Given the description of an element on the screen output the (x, y) to click on. 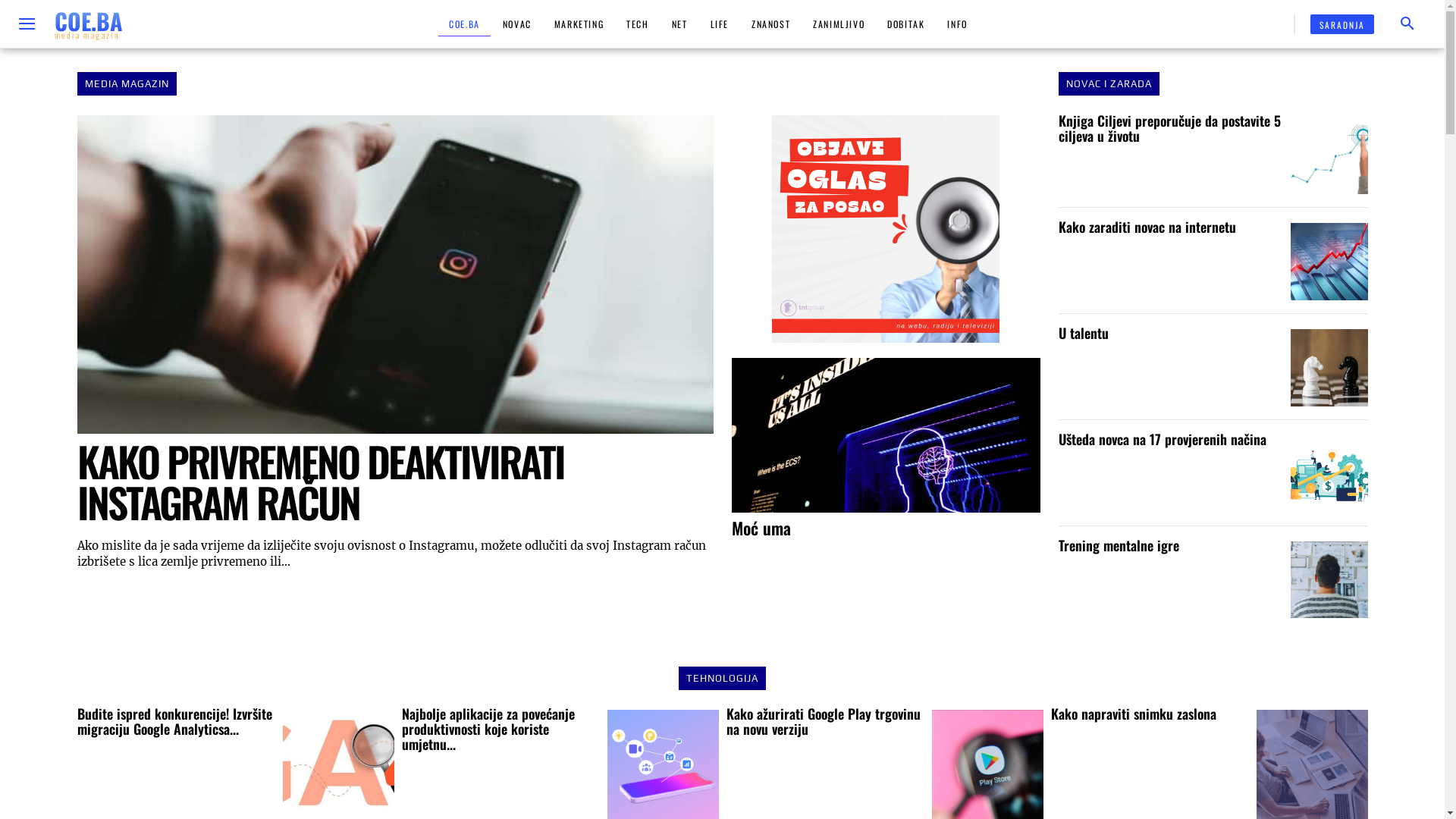
TECH Element type: text (636, 24)
U talentu Element type: text (1083, 332)
COE.BA
media magazin Element type: text (88, 24)
ZANIMLJIVO Element type: text (838, 24)
ZNANOST Element type: text (770, 24)
U talentu Element type: hover (1329, 367)
MARKETING Element type: text (578, 24)
MEDIA MAGAZIN Element type: text (126, 83)
LIFE Element type: text (718, 24)
SARADNJA Element type: text (1342, 24)
NOVAC Element type: text (517, 24)
DOBITAK Element type: text (905, 24)
MEDIA MAGAZIN COE.BA Element type: hover (885, 228)
Kako zaraditi novac na internetu Element type: text (1147, 226)
COE.BA Element type: text (464, 24)
INFO Element type: text (956, 24)
Kako zaraditi novac na internetu Element type: hover (1329, 261)
TEHNOLOGIJA Element type: text (721, 678)
Kako napraviti snimku zaslona Element type: text (1133, 713)
Trening mentalne igre Element type: text (1118, 545)
NET Element type: text (679, 24)
NOVAC I ZARADA Element type: text (1108, 83)
Trening mentalne igre Element type: hover (1329, 579)
